Given the description of an element on the screen output the (x, y) to click on. 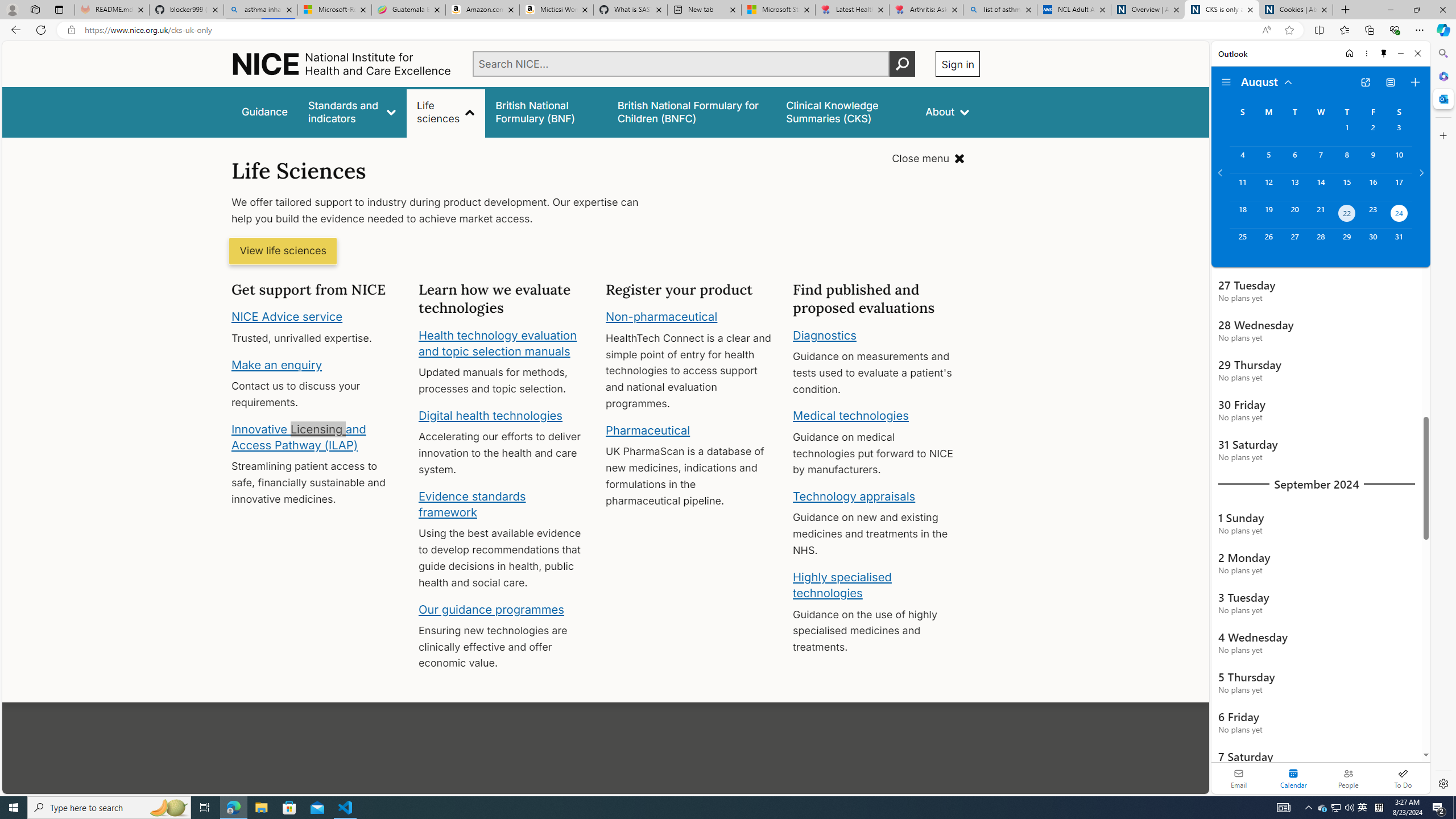
Perform search (902, 63)
false (845, 111)
Friday, August 30, 2024.  (1372, 241)
Non-pharmaceutical (661, 316)
View life sciences (282, 251)
Tuesday, August 13, 2024.  (1294, 186)
Health technology evaluation and topic selection manuals (496, 342)
Wednesday, August 21, 2024.  (1320, 214)
